Given the description of an element on the screen output the (x, y) to click on. 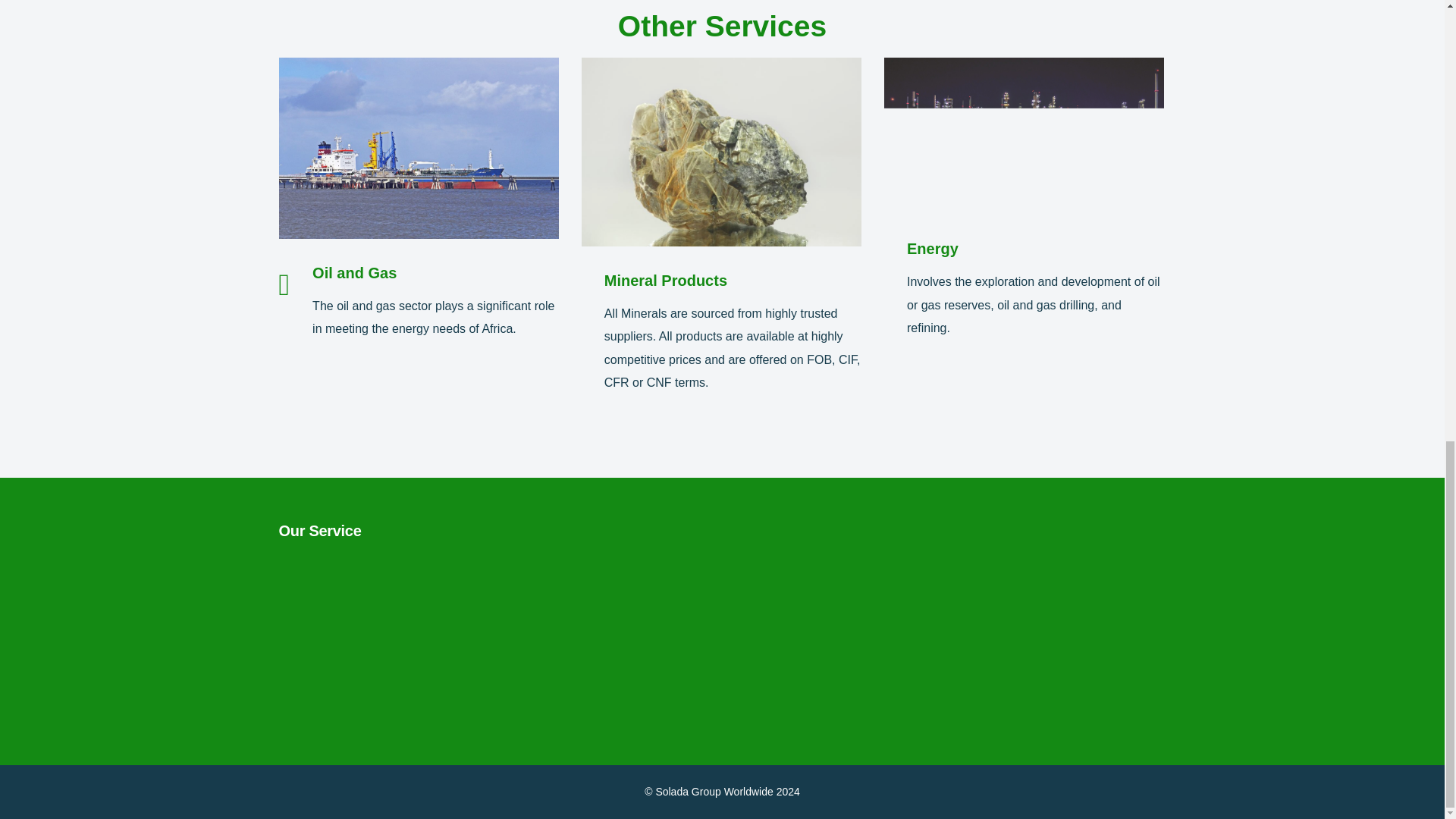
Energy (932, 248)
Oil and Gas (354, 272)
Team (310, 627)
Services (311, 653)
Home (304, 570)
About (304, 597)
Mineral Products (665, 280)
Contact (309, 706)
Blog (300, 679)
